Given the description of an element on the screen output the (x, y) to click on. 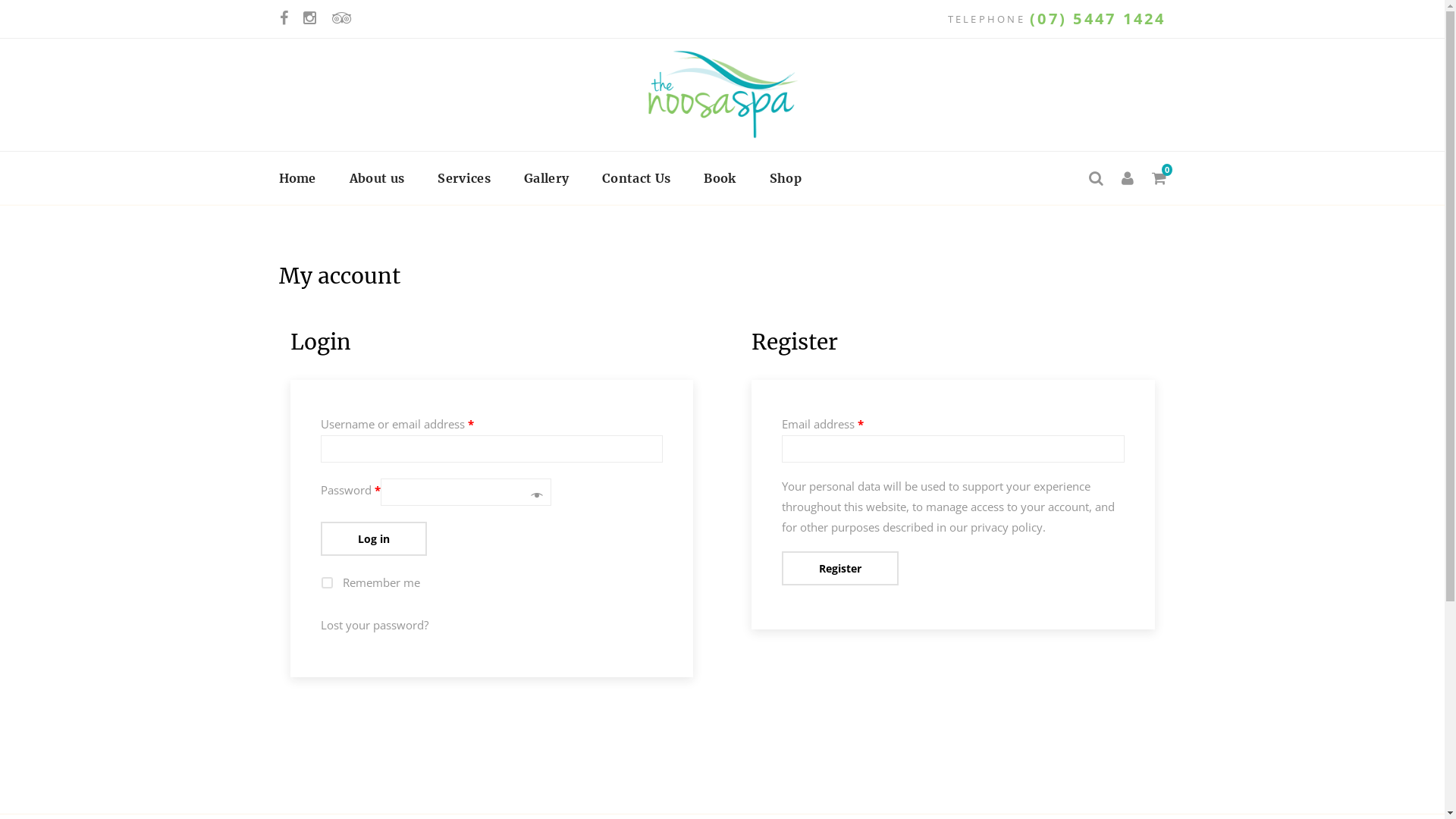
Shop Element type: text (785, 177)
Services Element type: text (463, 177)
Book Element type: text (719, 177)
Contact Us Element type: text (636, 177)
About us Element type: text (376, 177)
Lost your password? Element type: text (373, 624)
Home Element type: text (297, 177)
(07) 5447 1424 Element type: text (1097, 18)
Gallery Element type: text (546, 177)
Log in Element type: text (373, 538)
0 Element type: text (1158, 177)
privacy policy Element type: text (1006, 526)
Register Element type: text (839, 568)
